Given the description of an element on the screen output the (x, y) to click on. 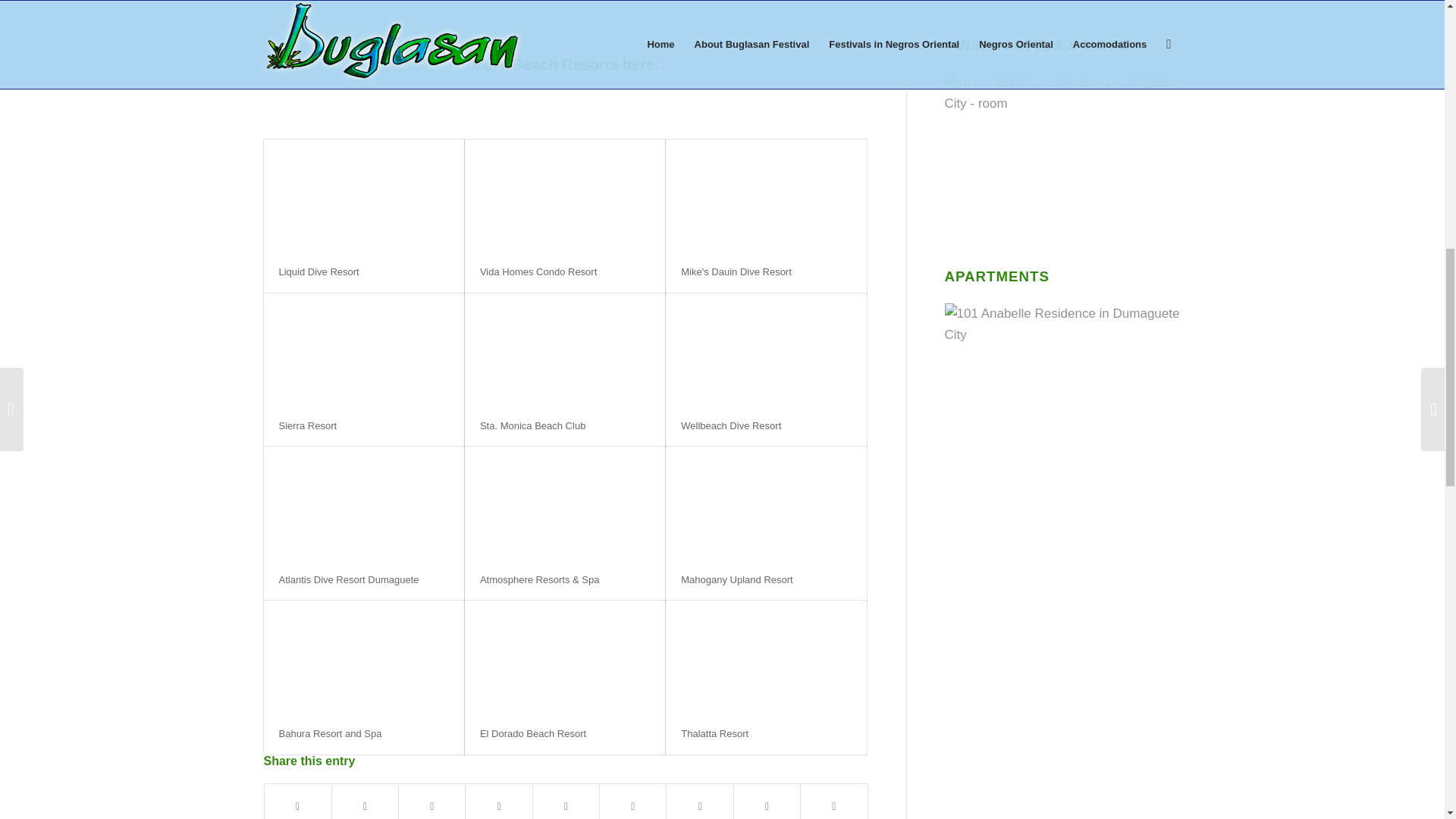
Sierra Resort (308, 425)
El Dorado Beach Resort (533, 733)
Bahura Resort and Spa (330, 733)
Wellbeach Dive Resort (730, 425)
Liquid Dive Resort (319, 271)
Mahogany Upland Resort (736, 579)
Atlantis Dive Resort Dumaguete (349, 579)
Mike's Dauin Dive Resort (736, 271)
Sta. Monica Beach Club (532, 425)
Vida Homes Condo Resort (538, 271)
